Given the description of an element on the screen output the (x, y) to click on. 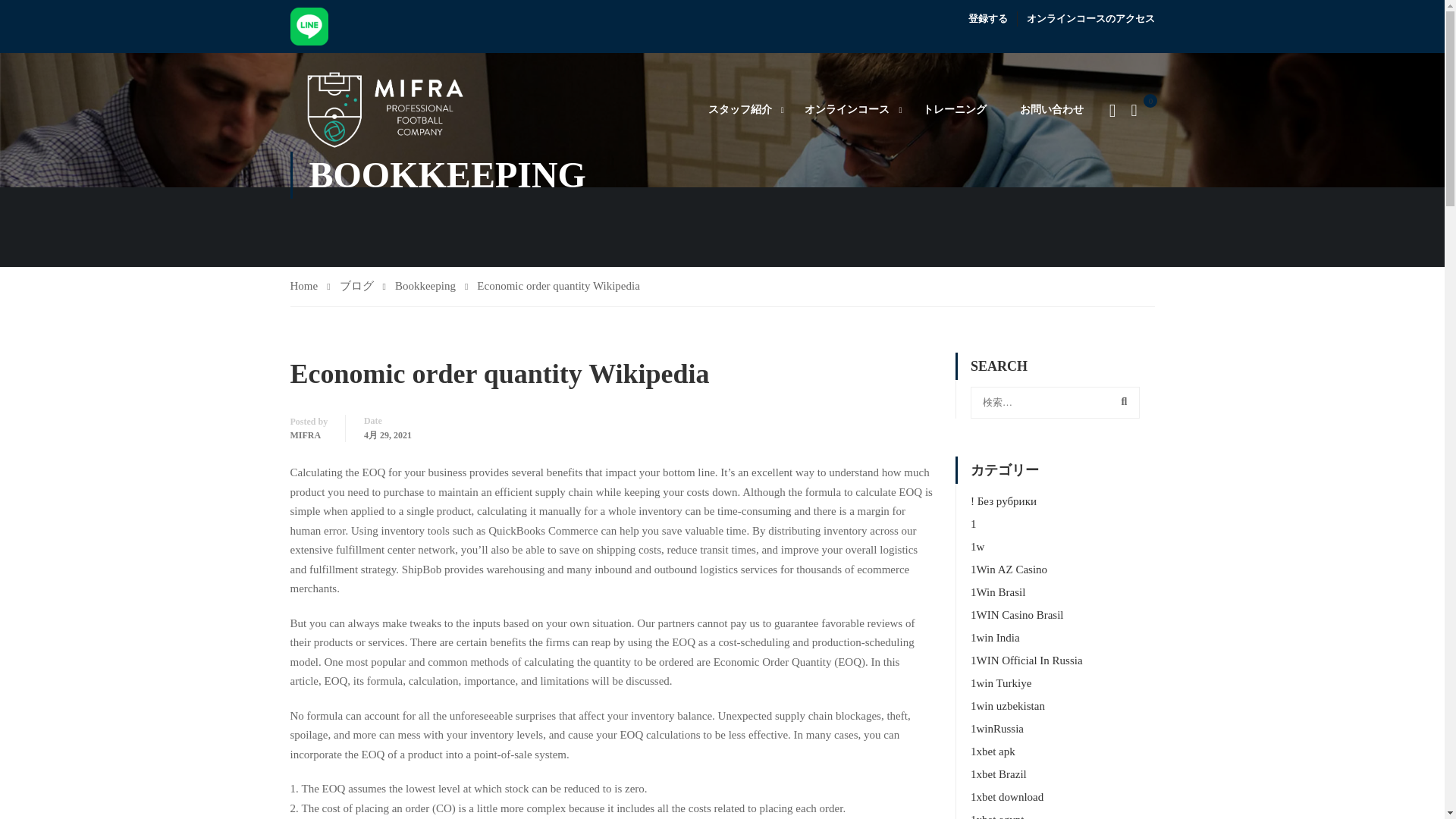
Home (309, 286)
Bookkeeping (430, 286)
MIFRA (304, 435)
